Given the description of an element on the screen output the (x, y) to click on. 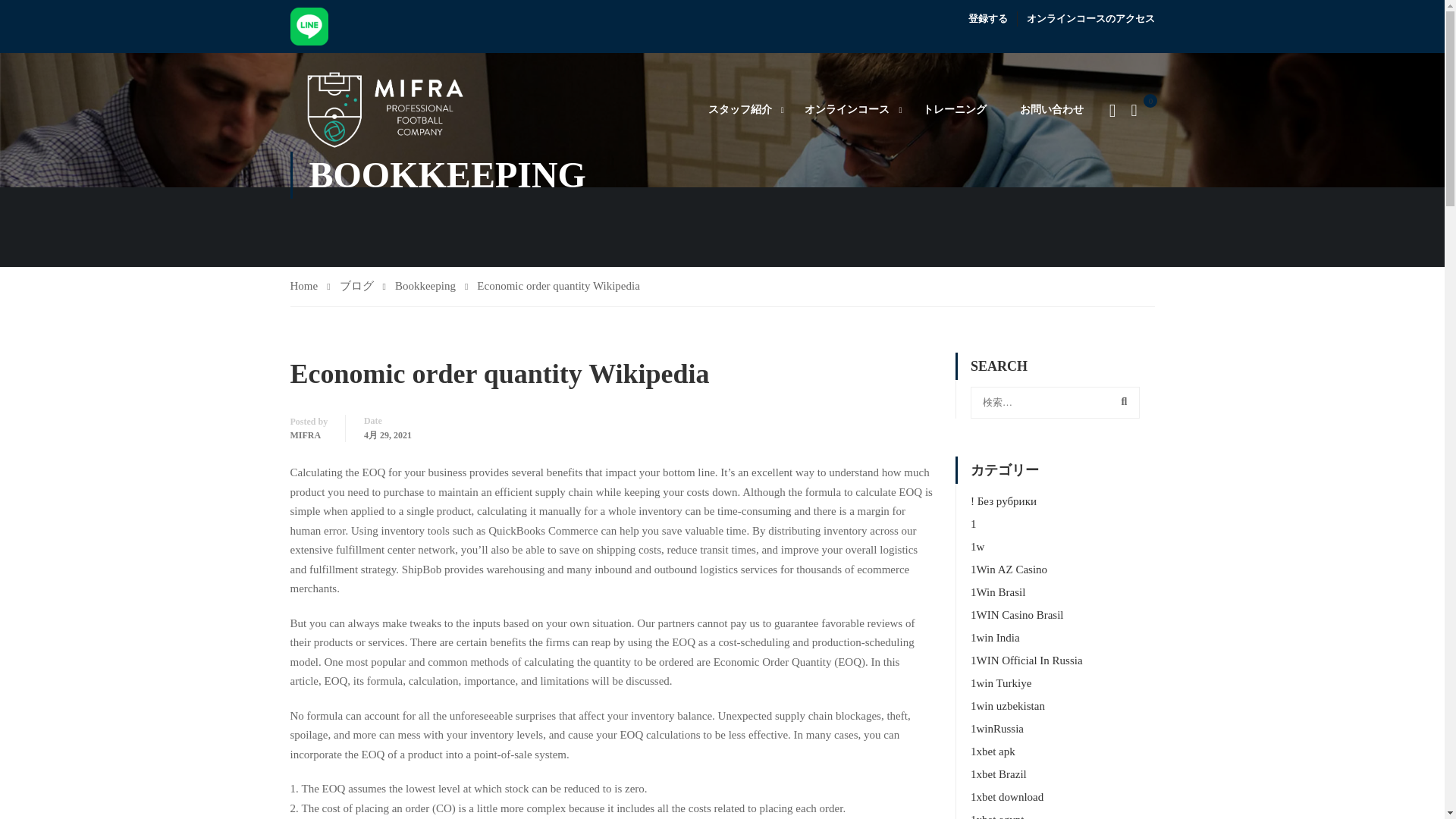
Home (309, 286)
Bookkeeping (430, 286)
MIFRA (304, 435)
